Given the description of an element on the screen output the (x, y) to click on. 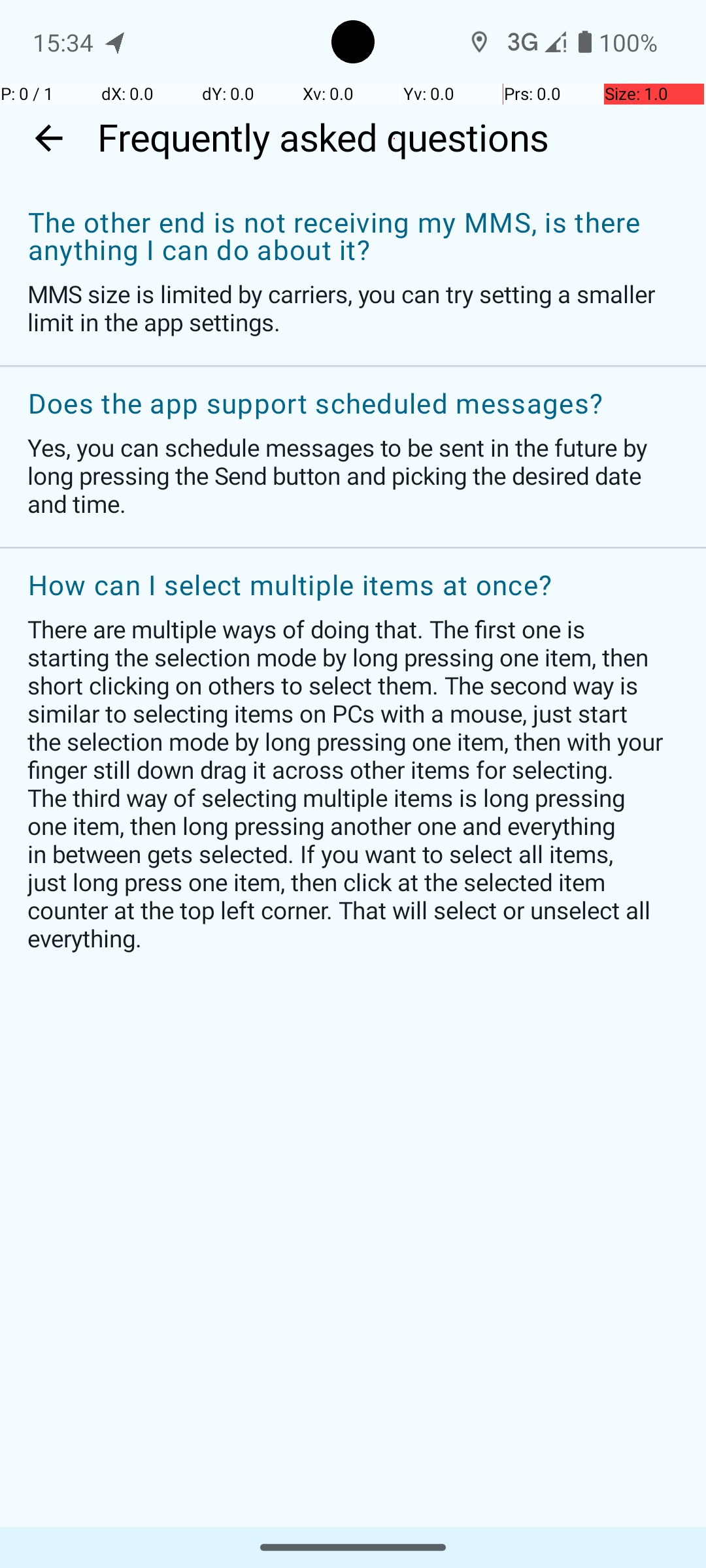
Frequently asked questions Element type: android.widget.TextView (394, 138)
The other end is not receiving my MMS, is there anything I can do about it? Element type: android.widget.TextView (345, 237)
Does the app support scheduled messages? Element type: android.widget.TextView (345, 404)
How can I select multiple items at once? Element type: android.widget.TextView (345, 585)
MMS size is limited by carriers, you can try setting a smaller limit in the app settings. Element type: android.widget.TextView (345, 307)
Yes, you can schedule messages to be sent in the future by long pressing the Send button and picking the desired date and time. Element type: android.widget.TextView (345, 475)
There are multiple ways of doing that. The first one is starting the selection mode by long pressing one item, then short clicking on others to select them. The second way is similar to selecting items on PCs with a mouse, just start the selection mode by long pressing one item, then with your finger still down drag it across other items for selecting. The third way of selecting multiple items is long pressing one item, then long pressing another one and everything in between gets selected. If you want to select all items, just long press one item, then click at the selected item counter at the top left corner. That will select or unselect all everything. Element type: android.widget.TextView (345, 782)
